Given the description of an element on the screen output the (x, y) to click on. 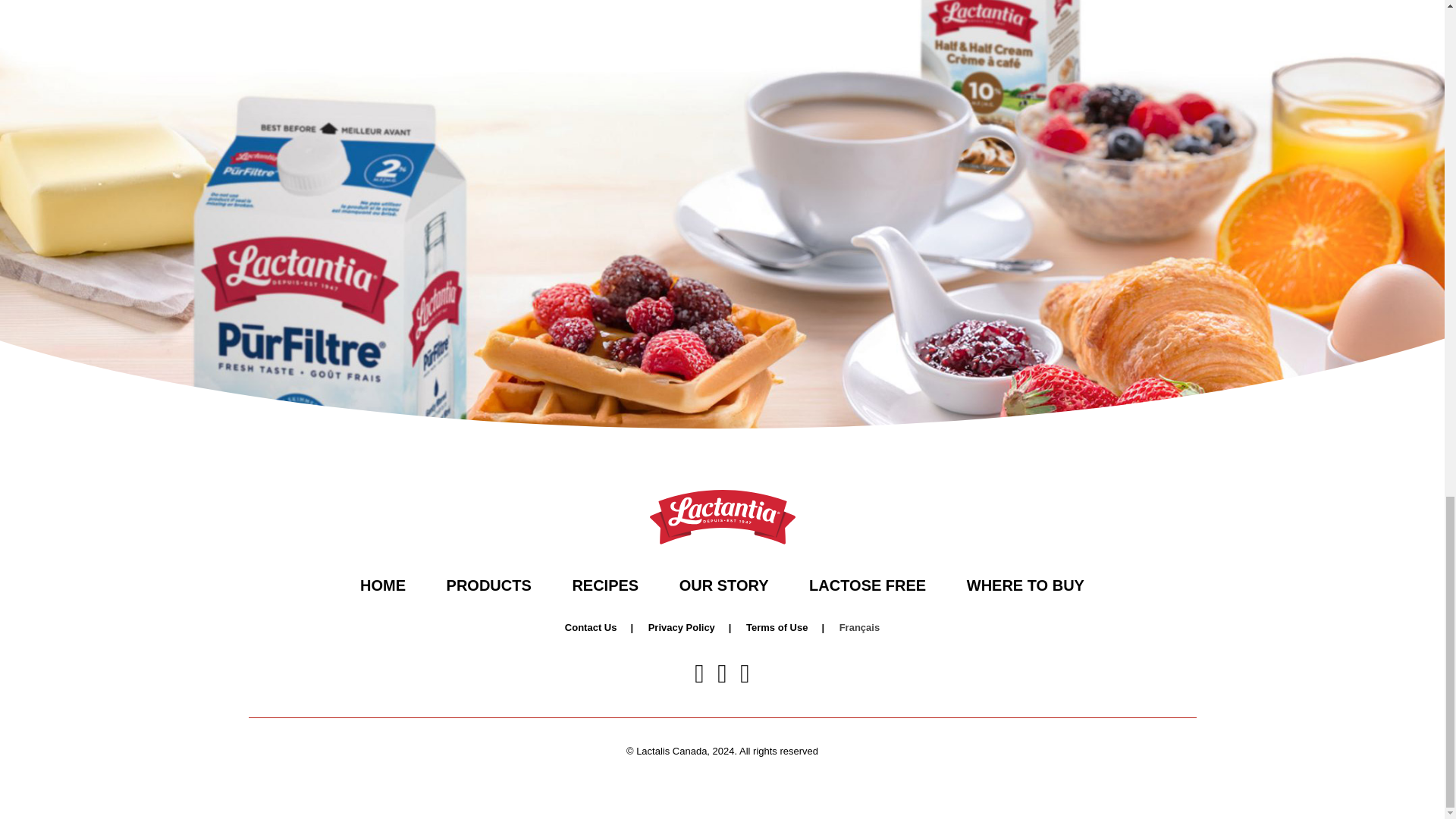
HOME (382, 584)
PRODUCTS (489, 584)
